Given the description of an element on the screen output the (x, y) to click on. 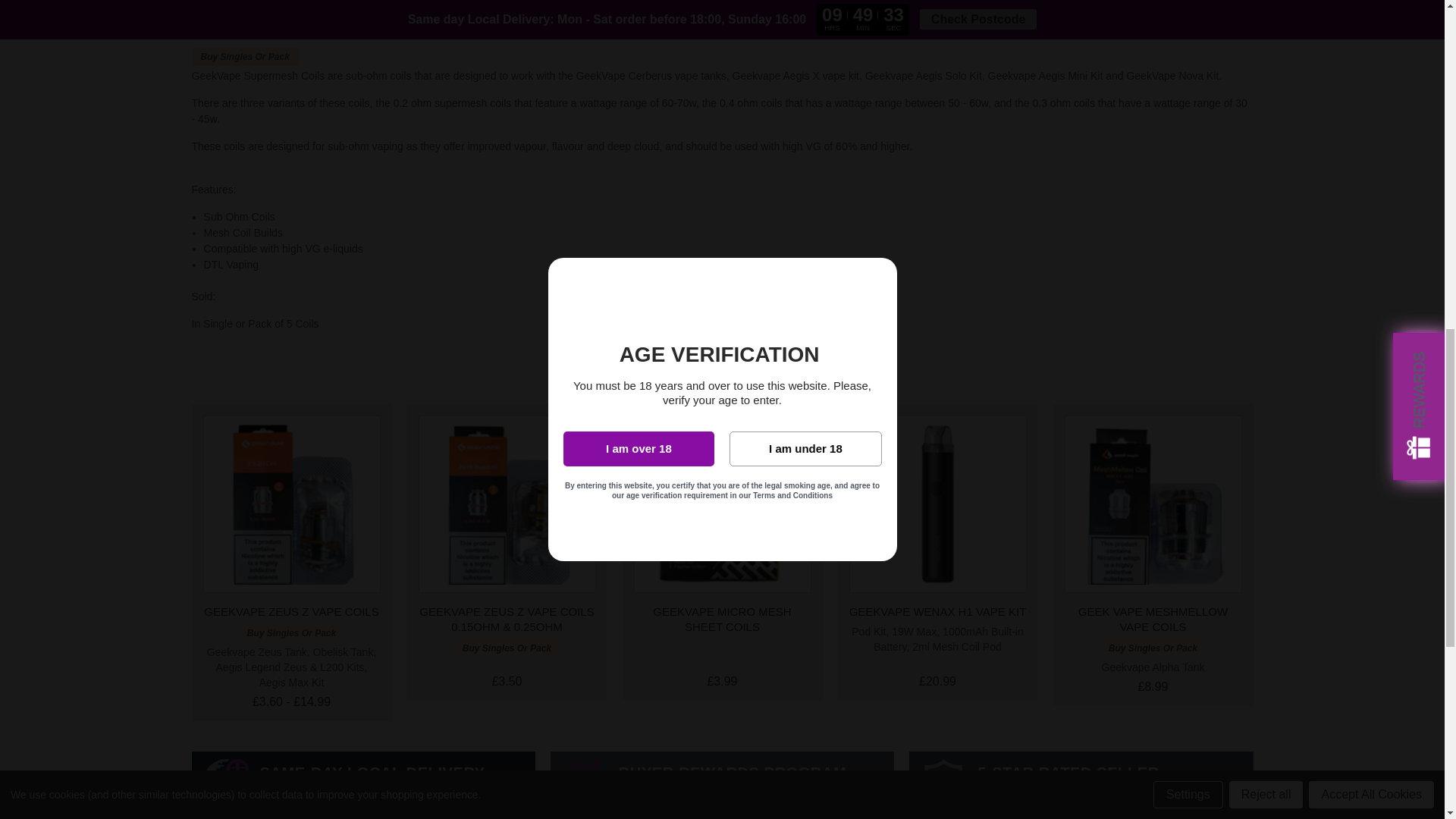
Geekvape Zeus Z Vape Coils 0.25 ohm (506, 503)
Geekvape Zeus Z Vape Coils 0.25 ohm (291, 503)
Geekvape Meshmellow Vape Coils (1152, 503)
Geekvape Micro Mesh Sheet Coils (722, 503)
Geekvape Wenax H1 Pod Vape Kit (937, 503)
